Given the description of an element on the screen output the (x, y) to click on. 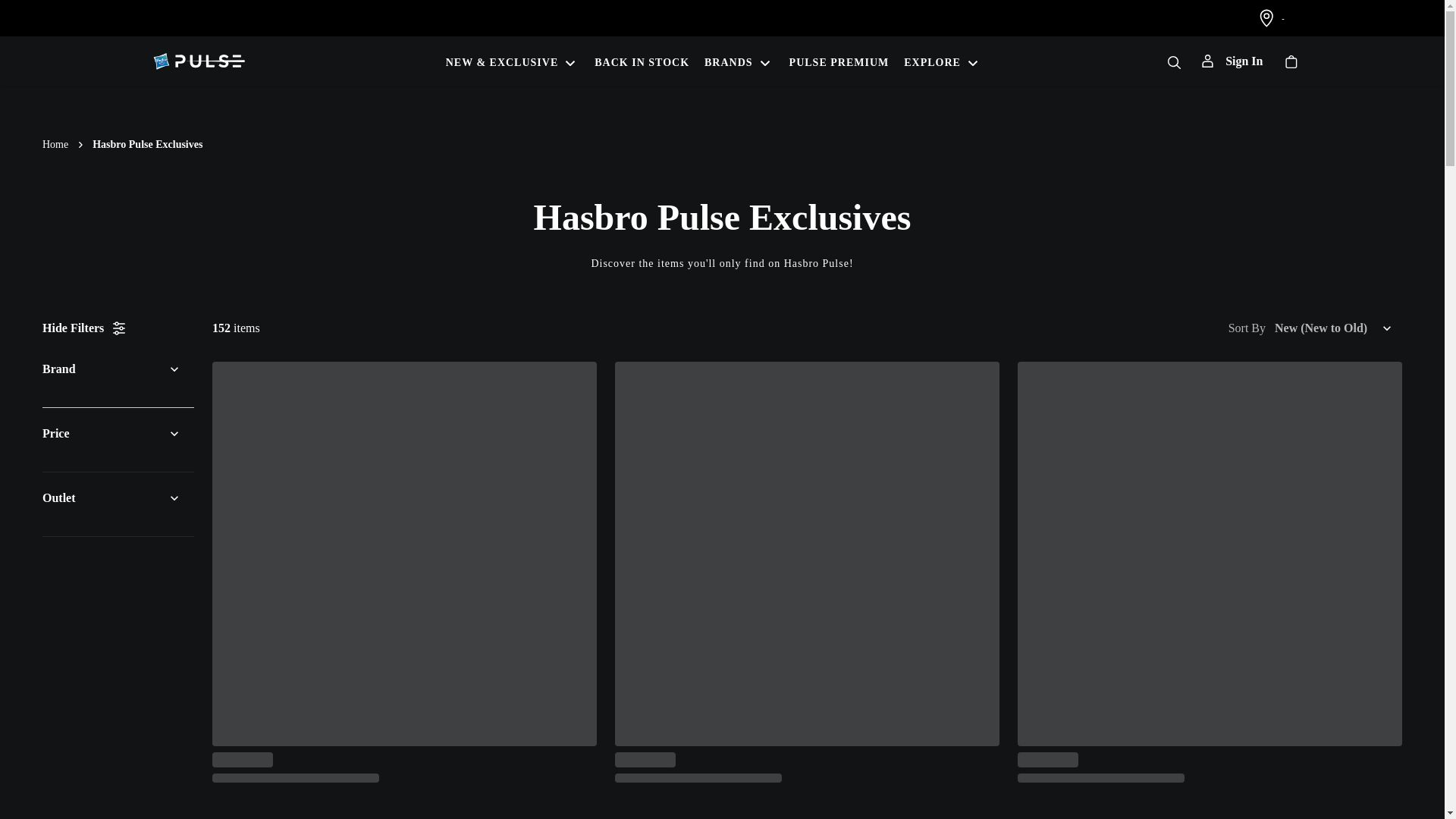
Sign In (1231, 60)
EXPLORE (943, 60)
BRANDS (739, 60)
Home (55, 144)
BACK IN STOCK (642, 60)
Hide Filters (85, 327)
PULSE PREMIUM (839, 60)
Hasbro Pulse Exclusives (147, 144)
